Given the description of an element on the screen output the (x, y) to click on. 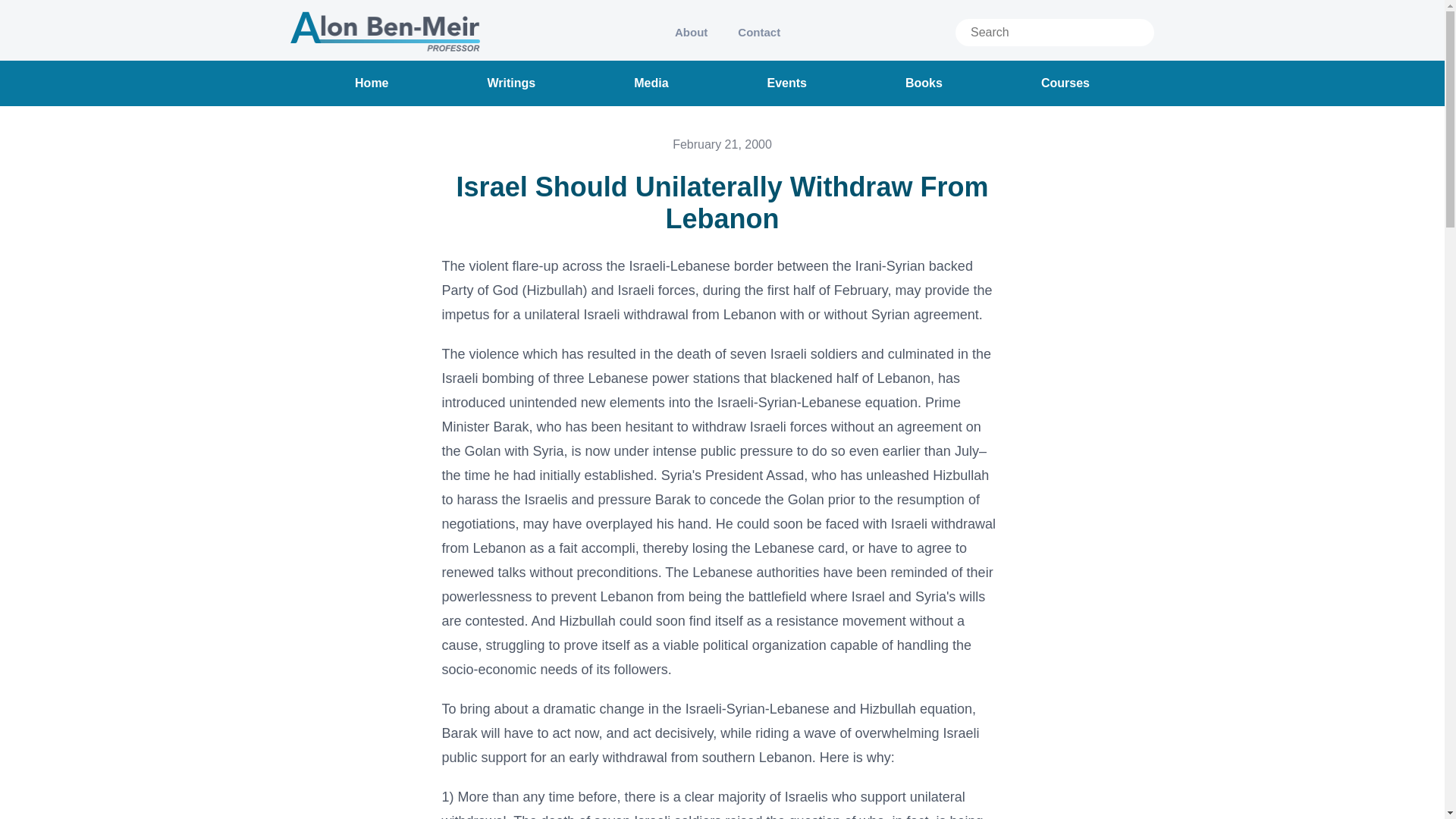
Courses (1064, 83)
Home (371, 83)
Media (651, 83)
Writings (511, 83)
Contact (758, 31)
Books (923, 83)
About (690, 31)
Events (786, 83)
